Given the description of an element on the screen output the (x, y) to click on. 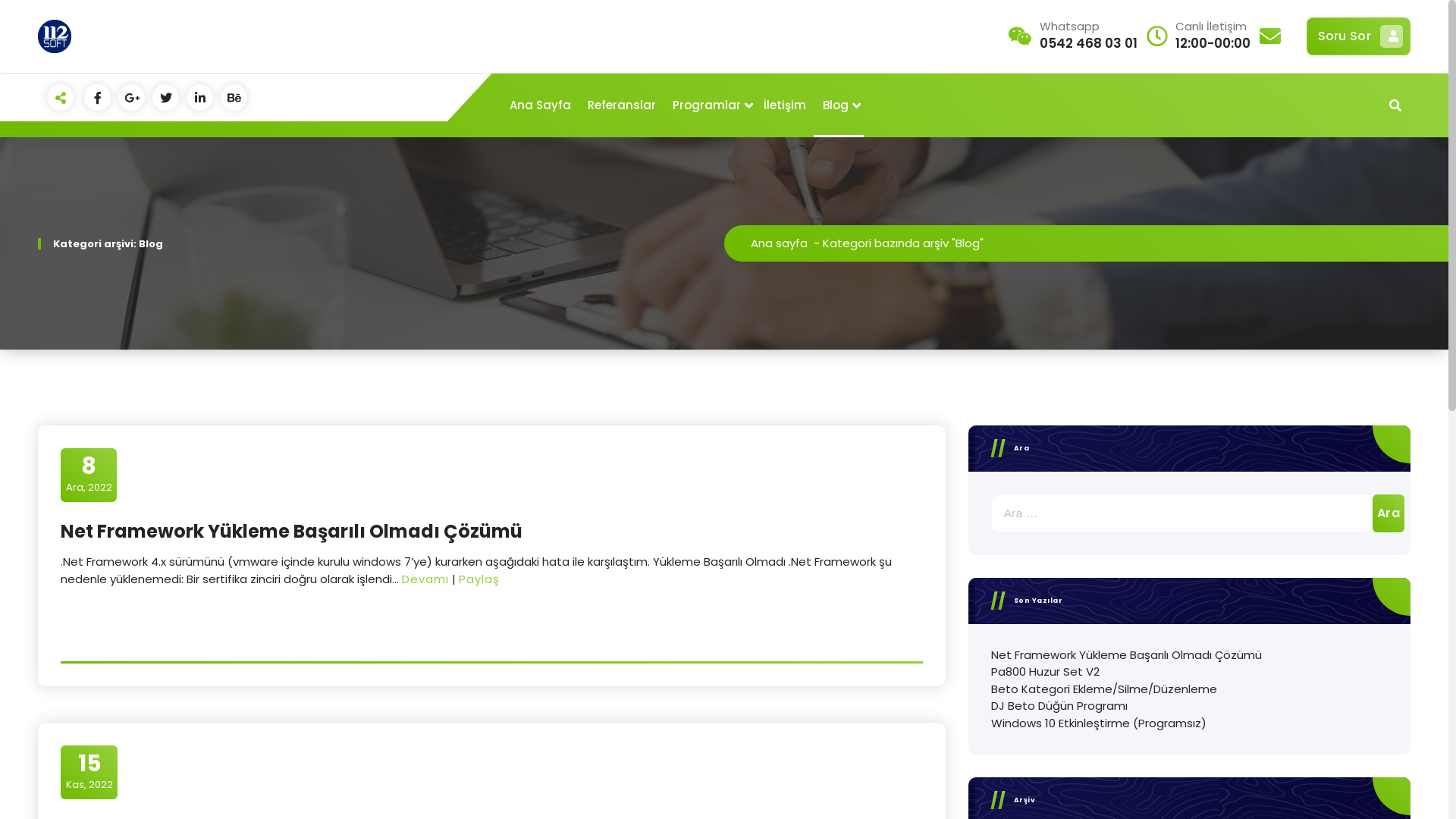
8
Ara, 2022 Element type: text (88, 474)
Whatsapp
0542 468 03 01 Element type: text (1088, 36)
Referanslar Element type: text (621, 105)
Soru Sor Element type: text (1358, 36)
Ana Sayfa Element type: text (540, 105)
Ara Element type: text (1388, 513)
Blog Element type: text (838, 105)
Pa800 Huzur Set V2 Element type: text (1045, 671)
Programlar Element type: text (709, 105)
Ana sayfa Element type: text (778, 243)
15
Kas, 2022 Element type: text (88, 771)
